Given the description of an element on the screen output the (x, y) to click on. 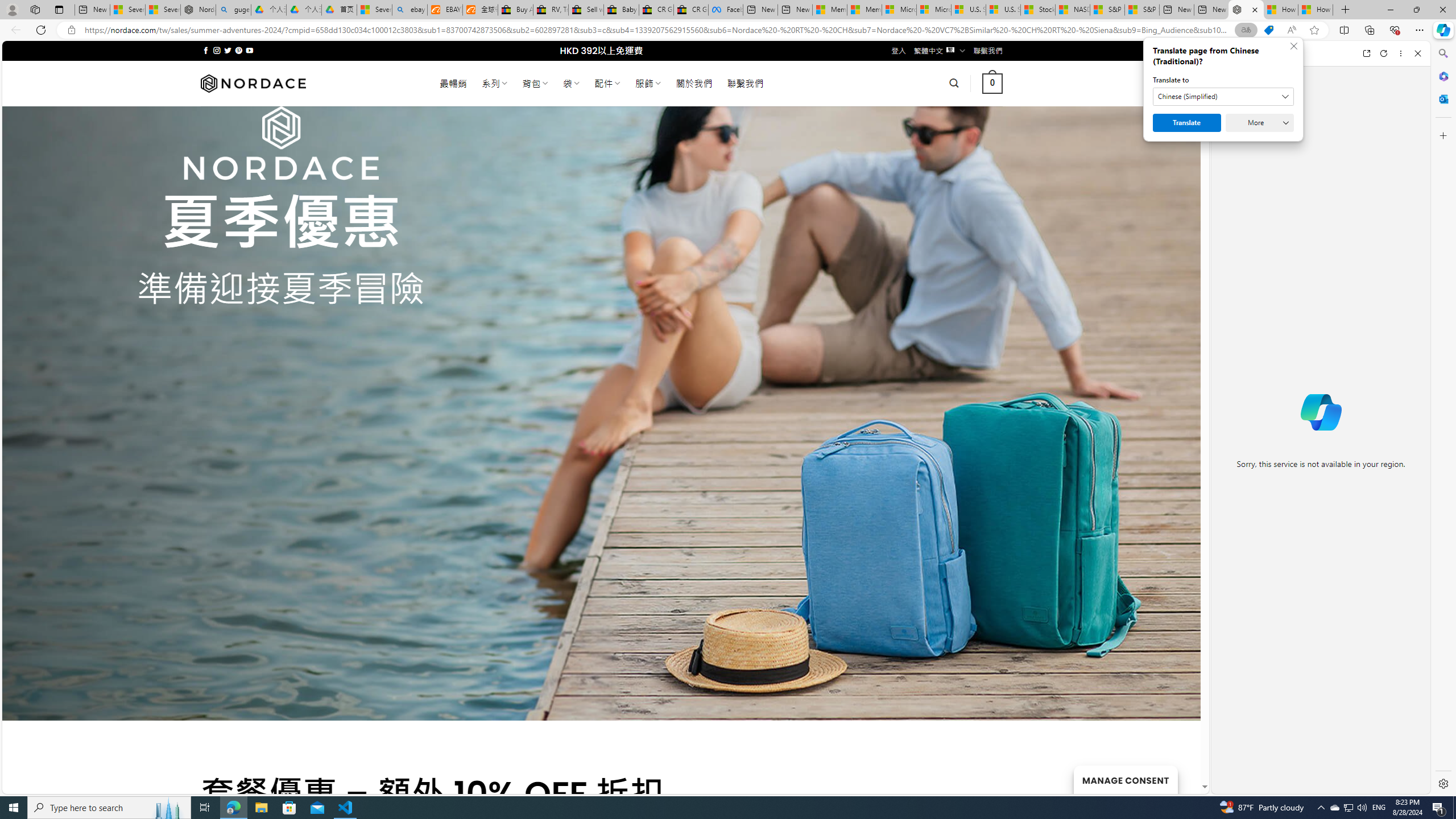
Follow on Pinterest (237, 50)
Sell worldwide with eBay (585, 9)
ebay - Search (409, 9)
